Given the description of an element on the screen output the (x, y) to click on. 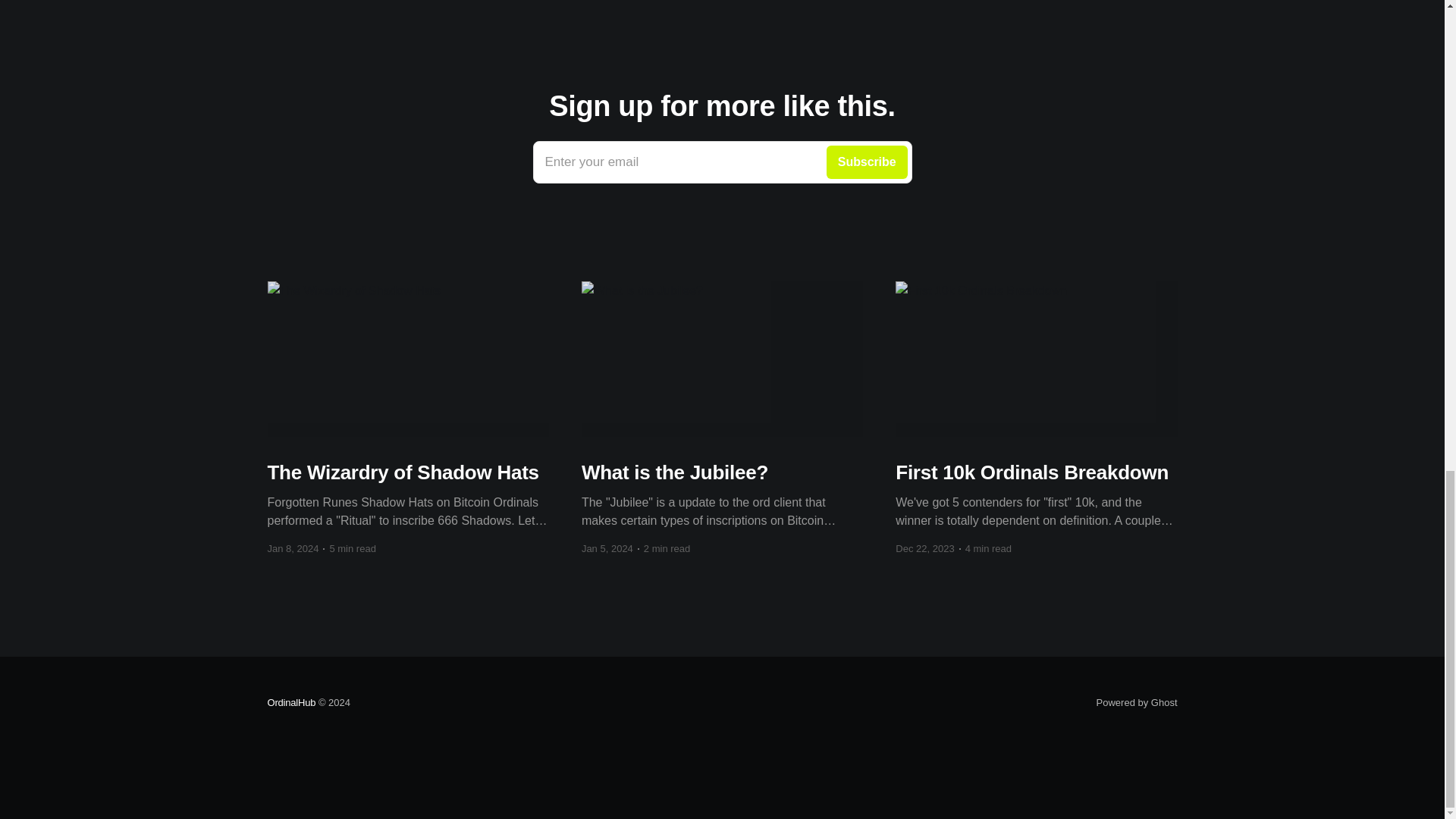
OrdinalHub (290, 702)
Project Spotlight - Inscribed Pepes (721, 12)
Powered by Ghost (721, 161)
